Given the description of an element on the screen output the (x, y) to click on. 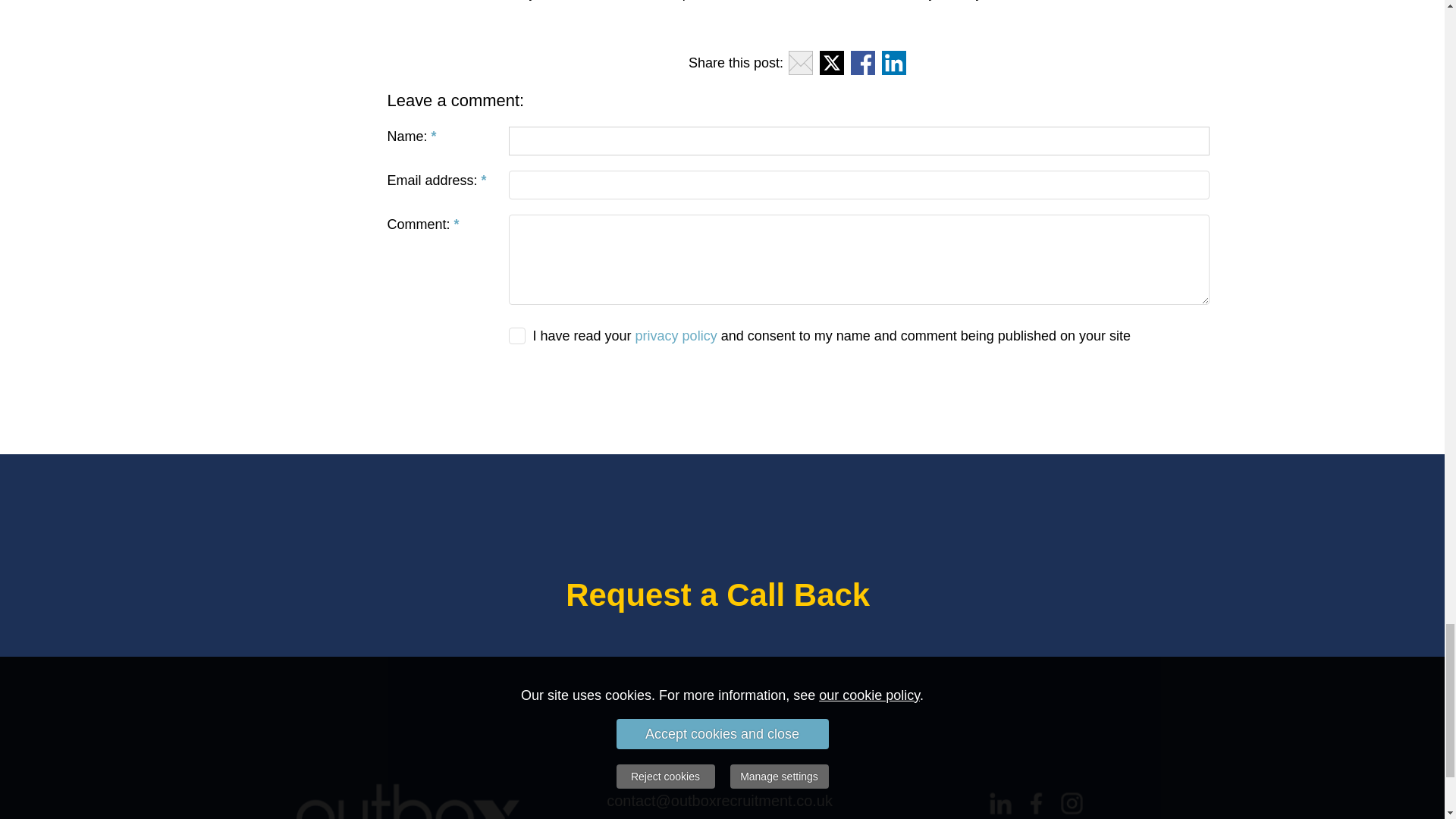
privacy policy (675, 335)
Request a Call Back (717, 601)
SUBMIT (797, 385)
